Given the description of an element on the screen output the (x, y) to click on. 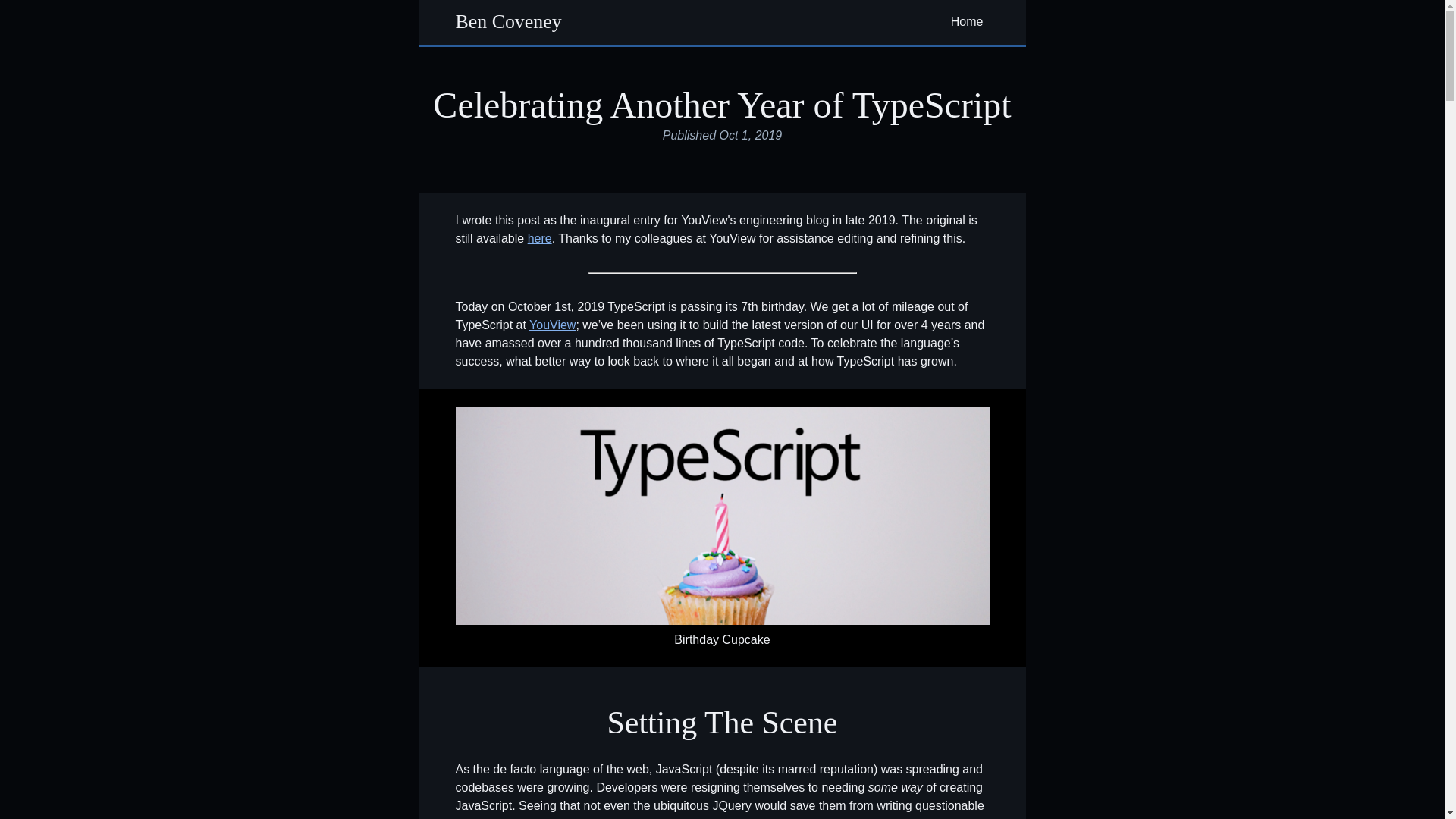
Home (970, 22)
Ben Coveney (507, 22)
Birthday Cupcake (721, 515)
here (539, 237)
YouView (552, 324)
